Given the description of an element on the screen output the (x, y) to click on. 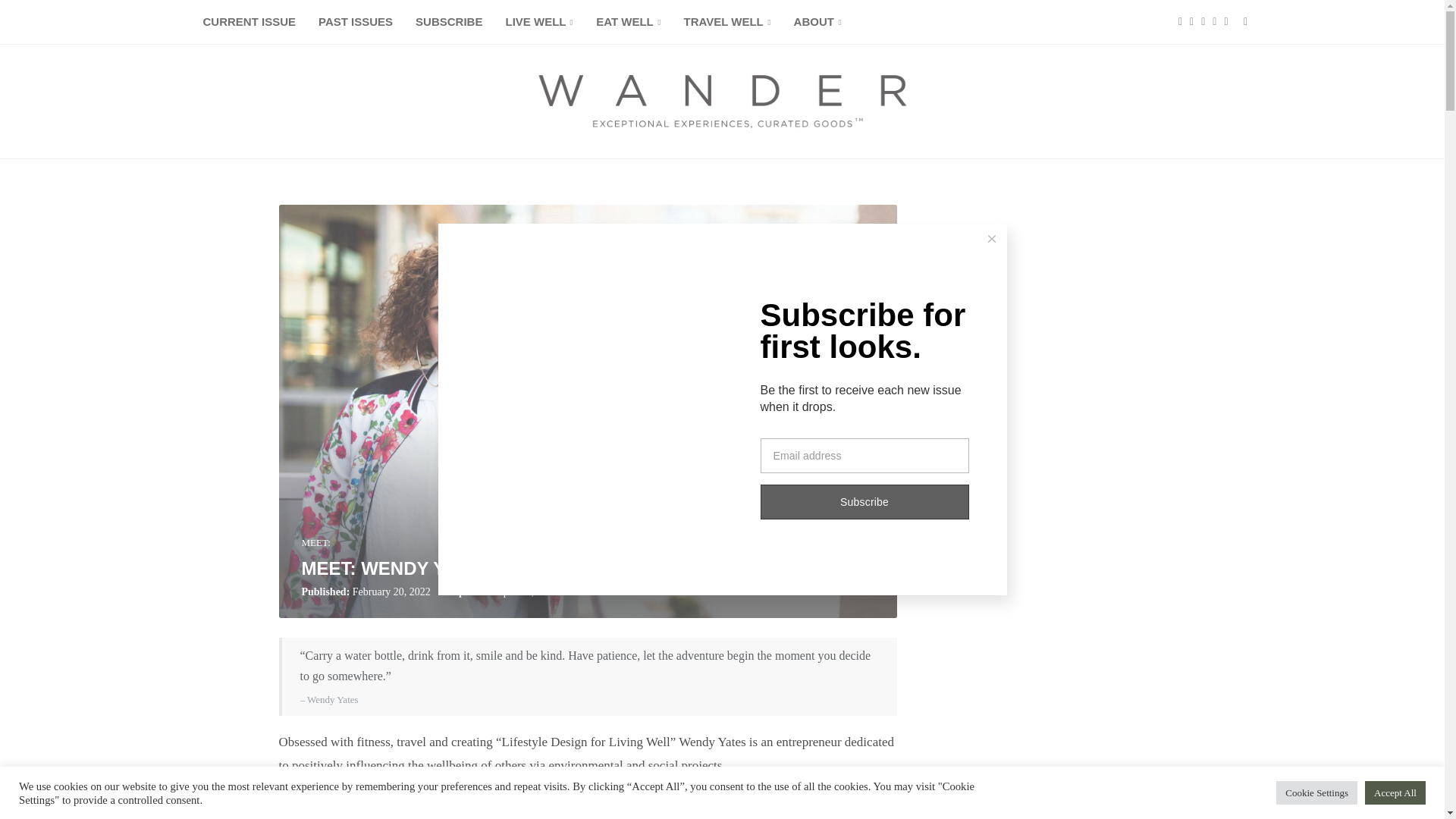
CURRENT ISSUE (248, 22)
Well Fit Human Retreats (605, 801)
EAT WELL (628, 22)
TRAVEL WELL (727, 22)
MEET: (315, 542)
ABOUT (818, 22)
LIVE WELL (539, 22)
PAST ISSUES (355, 22)
SUBSCRIBE (448, 22)
